Given the description of an element on the screen output the (x, y) to click on. 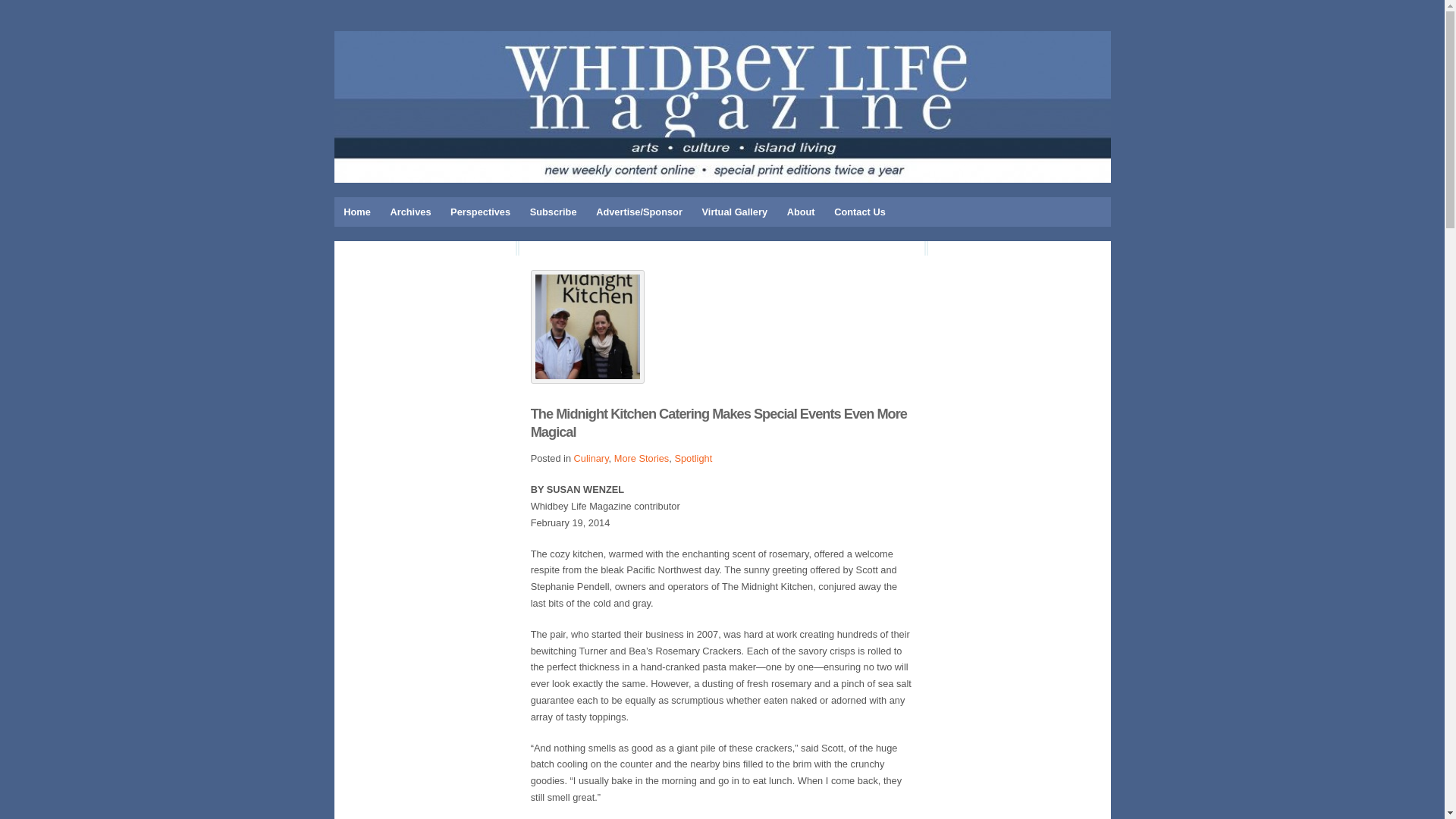
Perspectives (480, 211)
Contact Us (859, 211)
Culinary (590, 458)
Home (356, 211)
Virtual Gallery (735, 211)
Subscribe (552, 211)
About (801, 211)
Archives (410, 211)
